Given the description of an element on the screen output the (x, y) to click on. 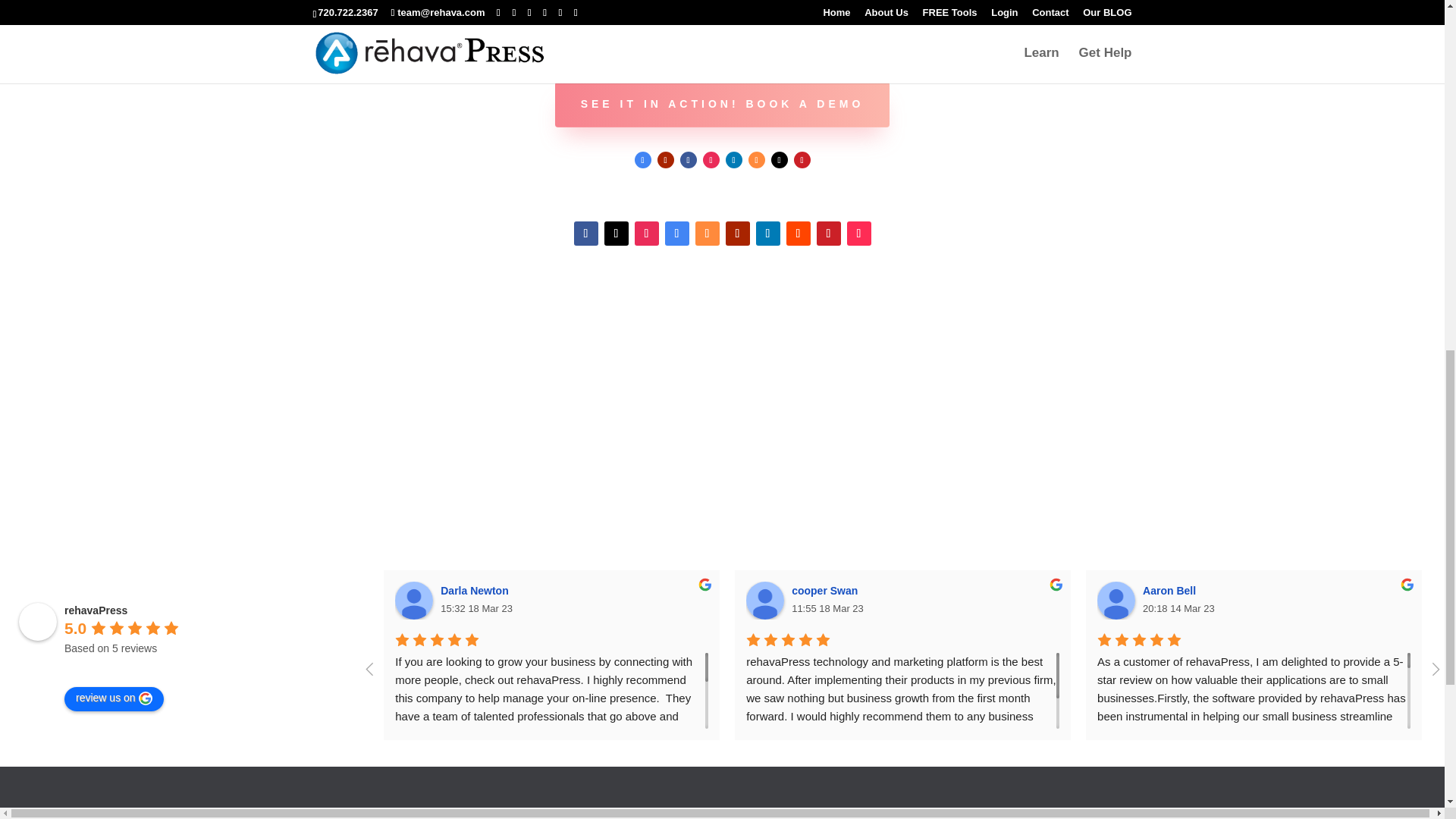
Follow on Instagram (710, 159)
Follow on Google (675, 233)
Follow on Facebook (584, 233)
Follow on Pinterest (801, 159)
Follow on Facebook (687, 159)
Follow on X (615, 233)
Follow on LinkedIn (733, 159)
Follow on Instagram (645, 233)
Follow on X (778, 159)
Follow on Youtube (664, 159)
Follow on Google (641, 159)
Follow on RSS (756, 159)
SEE IT IN ACTION! BOOK A DEMO (721, 104)
